Given the description of an element on the screen output the (x, y) to click on. 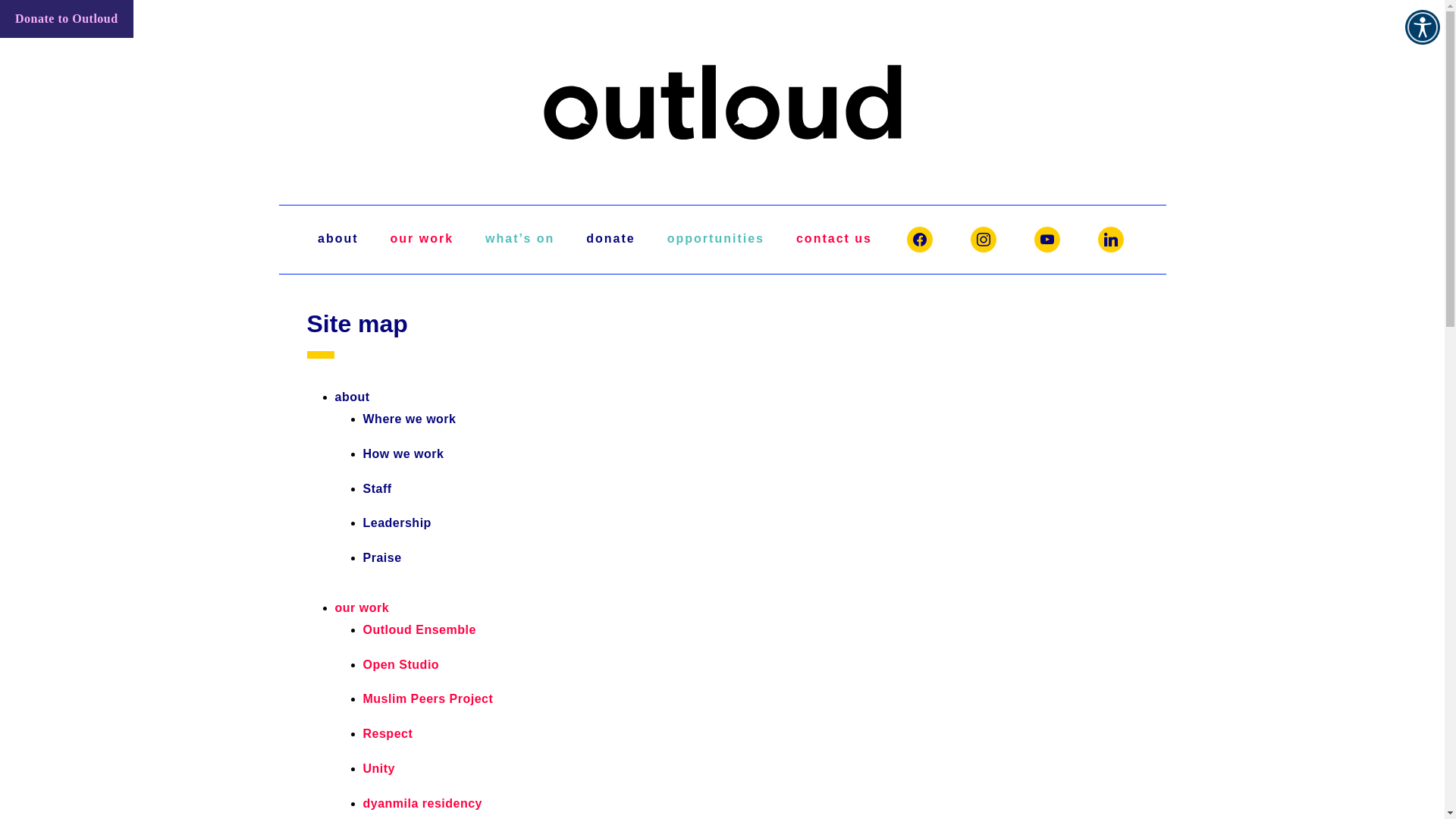
about Element type: text (337, 239)
Praise Element type: text (381, 557)
Skip to primary navigation Element type: text (0, 0)
about Element type: text (352, 396)
dyanmila residency Element type: text (422, 803)
Unity Element type: text (378, 768)
facebook Element type: text (919, 239)
Outloud Element type: hover (721, 173)
Outloud Ensemble Element type: text (418, 629)
linkedin Element type: text (1110, 239)
Muslim Peers Project Element type: text (427, 698)
our work Element type: text (422, 239)
Leadership Element type: text (396, 522)
Staff Element type: text (376, 488)
Outloud Element type: hover (721, 102)
contact us Element type: text (834, 239)
donate Element type: text (610, 239)
Open Studio Element type: text (400, 664)
opportunities Element type: text (715, 239)
Respect Element type: text (387, 733)
our work Element type: text (362, 607)
instagram Element type: text (983, 239)
youtube Element type: text (1047, 239)
Where we work Element type: text (408, 418)
Donate to Outloud Element type: text (66, 18)
How we work Element type: text (402, 453)
